Given the description of an element on the screen output the (x, y) to click on. 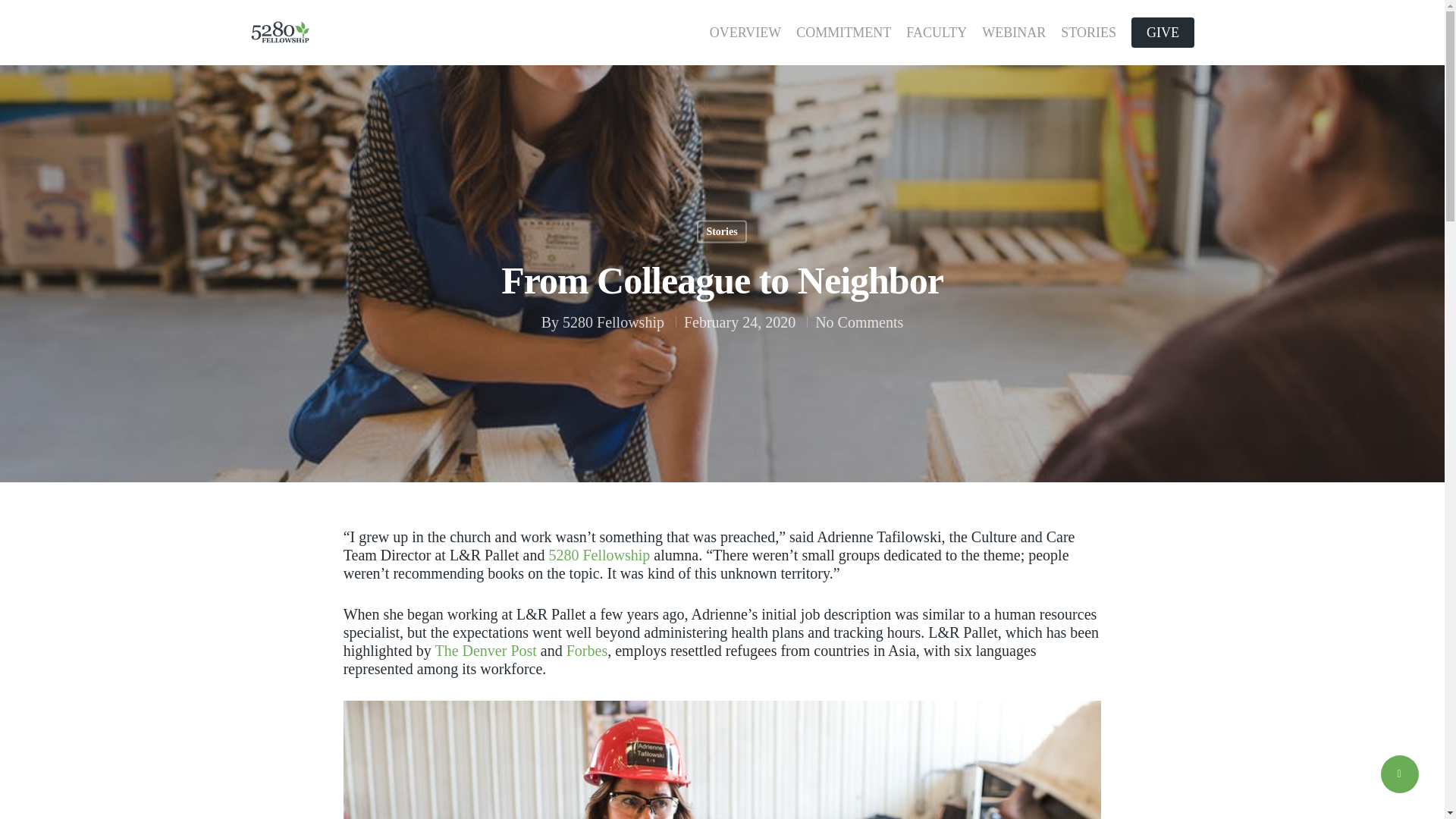
STORIES (1088, 32)
The Denver Post (484, 650)
Forbes (586, 650)
5280 Fellowship (598, 555)
COMMITMENT (843, 32)
5280 Fellowship (612, 321)
Stories (721, 231)
GIVE (1162, 32)
WEBINAR (1013, 32)
No Comments (858, 321)
